Given the description of an element on the screen output the (x, y) to click on. 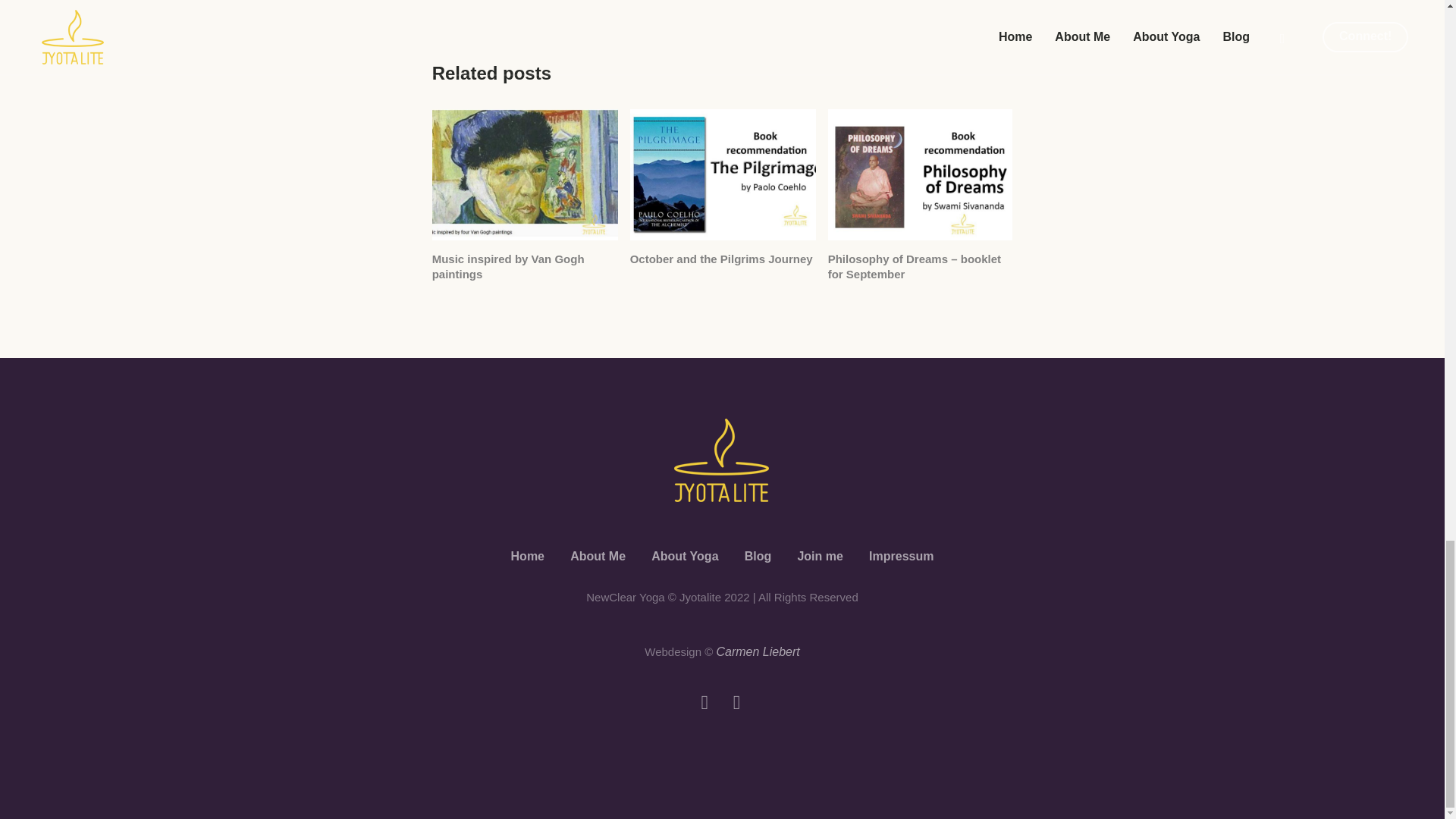
Blog (757, 556)
October and the Pilgrims Journey (722, 174)
Carmen Liebert (757, 651)
NewClear Yoga (721, 459)
NewClear Yoga Videos (735, 702)
Join me (819, 556)
October and the Pilgrims Journey (721, 258)
Impressum (901, 556)
Music inspired by Van Gogh paintings (524, 174)
About Yoga (683, 556)
